Given the description of an element on the screen output the (x, y) to click on. 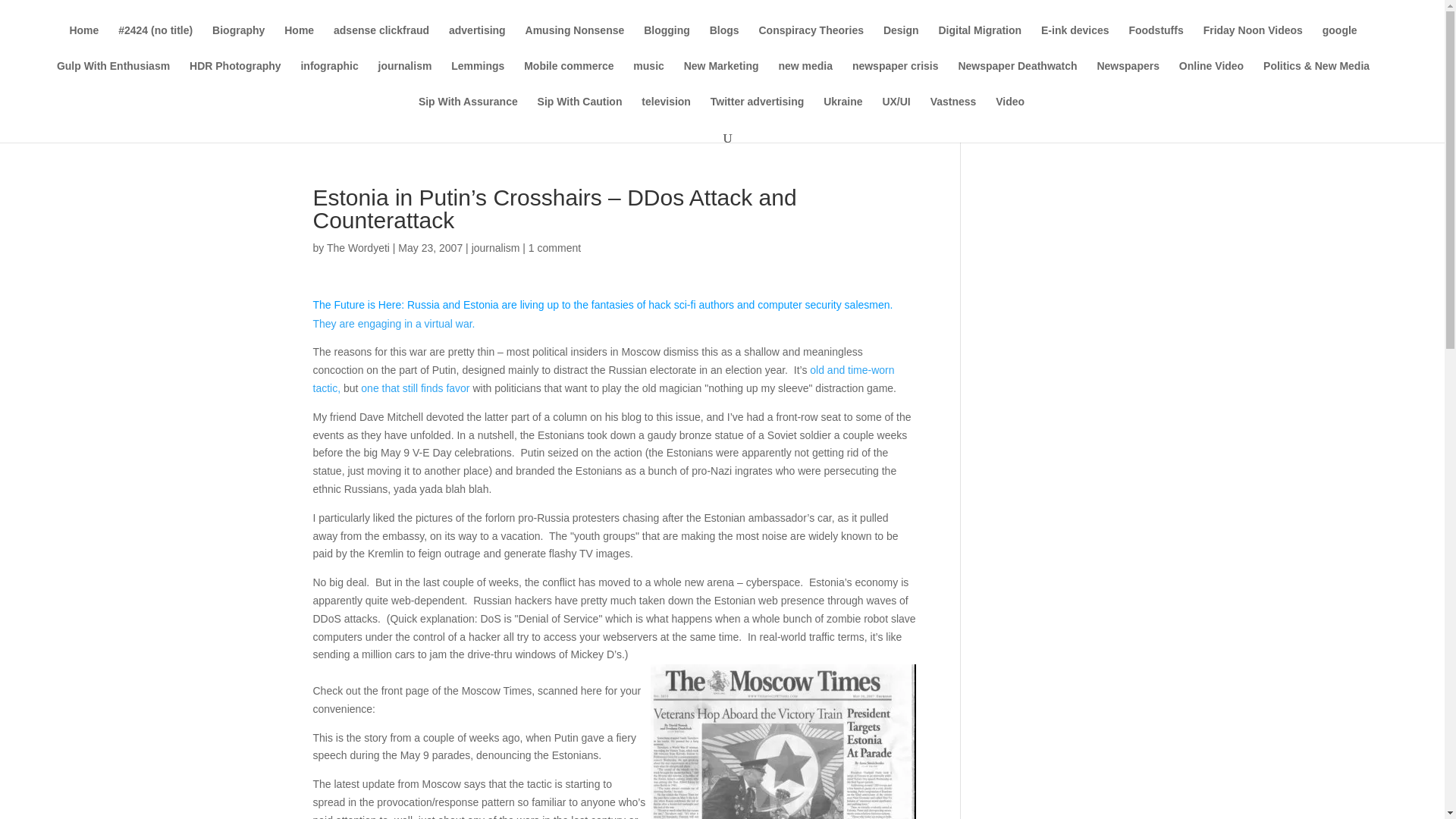
Design (900, 42)
Newspapers (1127, 78)
Newspaper Deathwatch (1017, 78)
infographic (328, 78)
Lemmings (477, 78)
The Wordyeti (358, 247)
E-ink devices (1075, 42)
music (648, 78)
Home (298, 42)
Sip With Assurance (468, 113)
Gulp With Enthusiasm (113, 78)
Sip With Caution (580, 113)
Video (1010, 113)
Biography (238, 42)
Friday Noon Videos (1253, 42)
